Given the description of an element on the screen output the (x, y) to click on. 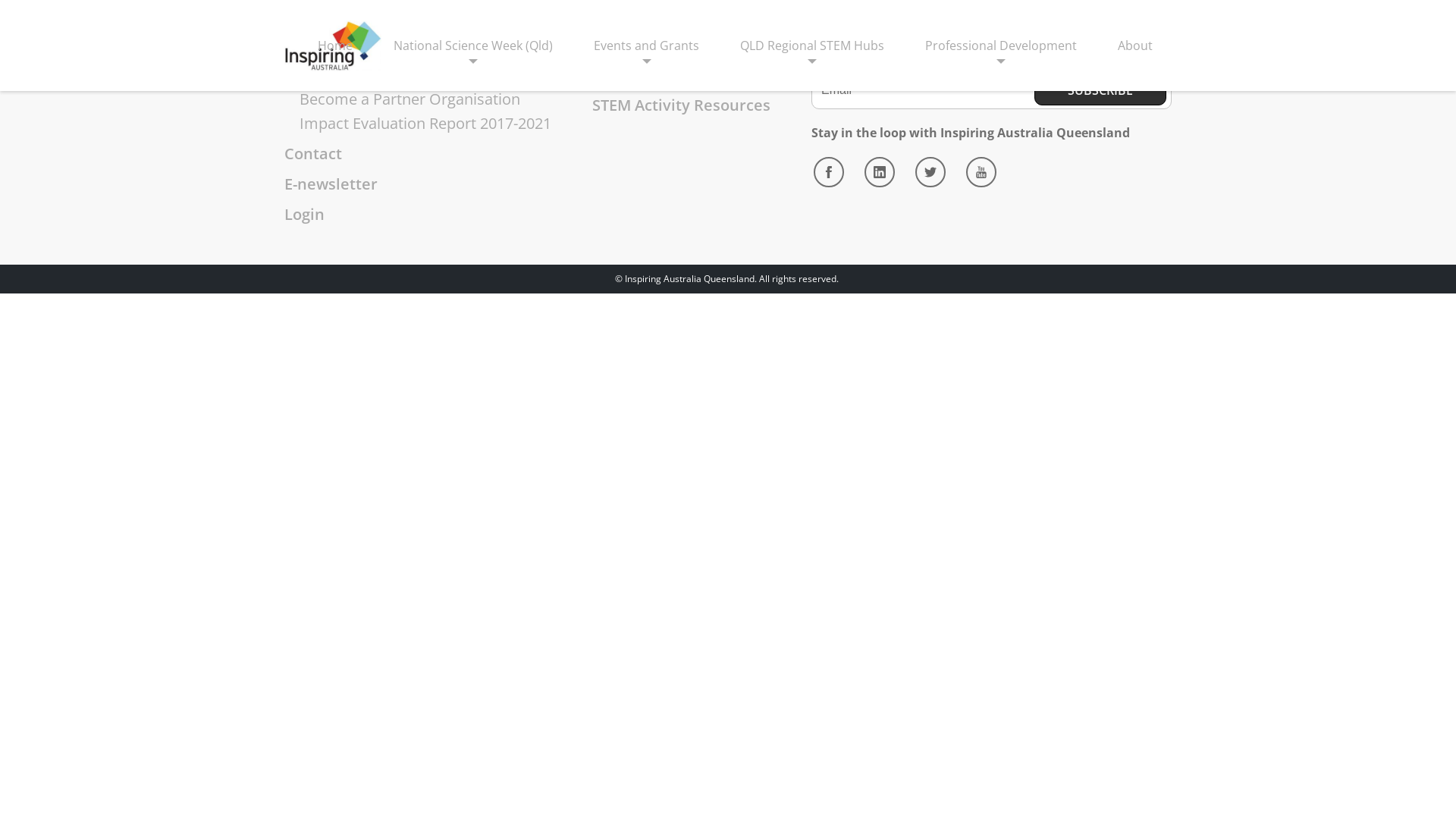
Become a Partner Organisation Element type: text (409, 98)
Home Element type: text (334, 45)
Login Element type: text (304, 213)
E-newsletter Element type: text (330, 183)
STEM Club Toolkit Element type: text (670, 74)
STEM Clubs Element type: text (633, 50)
About Element type: text (306, 50)
Professional Development Element type: text (1000, 45)
Inspiring Australia Queensland Element type: hover (332, 45)
IAQ Ambassador Element type: text (359, 74)
Contact Element type: text (313, 153)
About Element type: text (1134, 45)
Events and Grants Element type: text (646, 45)
National Science Week (Qld) Element type: text (472, 45)
QLD Regional STEM Hubs Element type: text (812, 45)
SUBSCRIBE Element type: text (1100, 90)
Impact Evaluation Report 2017-2021 Element type: text (425, 122)
STEM Activity Resources Element type: text (681, 104)
